Given the description of an element on the screen output the (x, y) to click on. 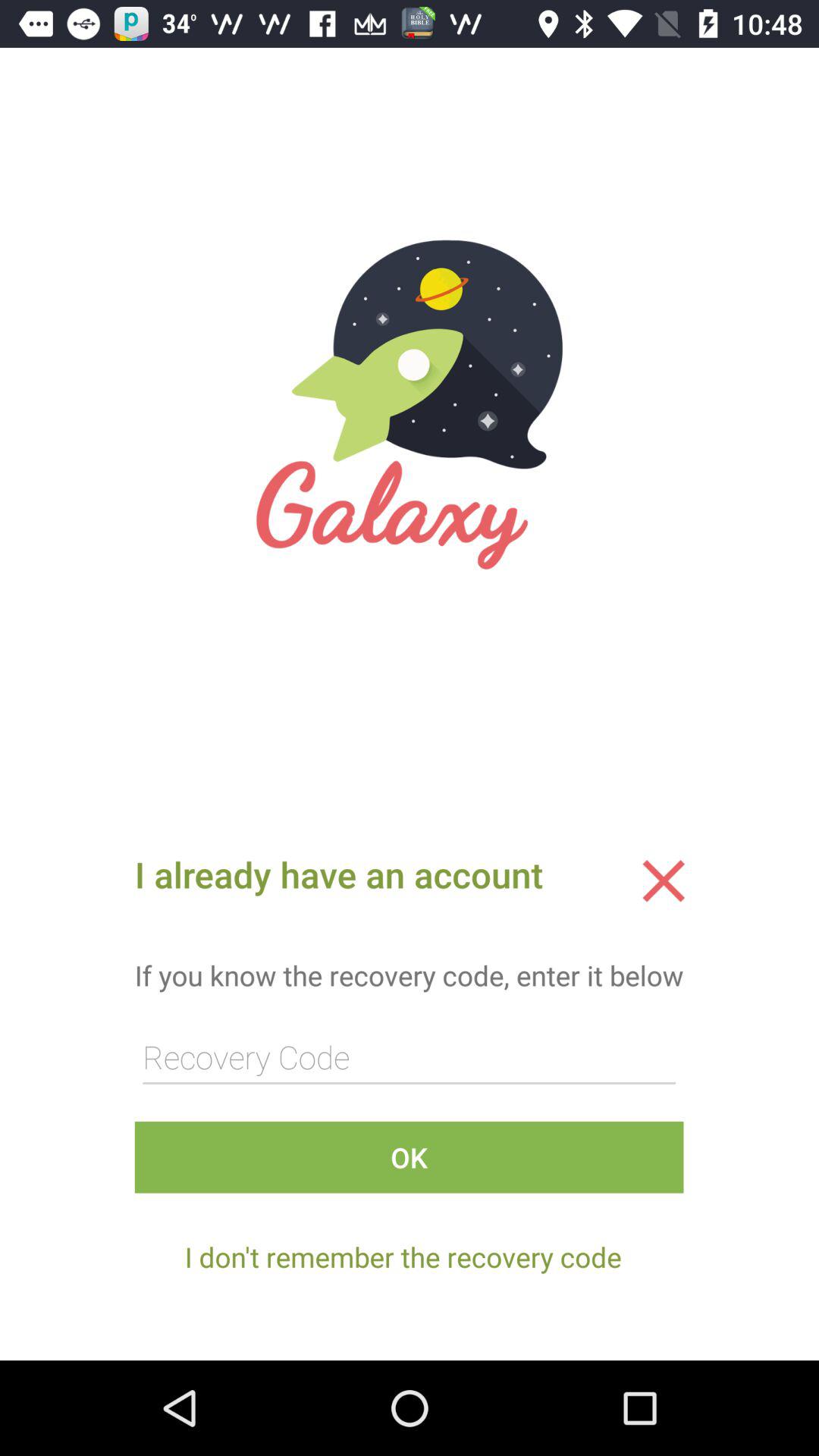
i do n't have an account (663, 880)
